Given the description of an element on the screen output the (x, y) to click on. 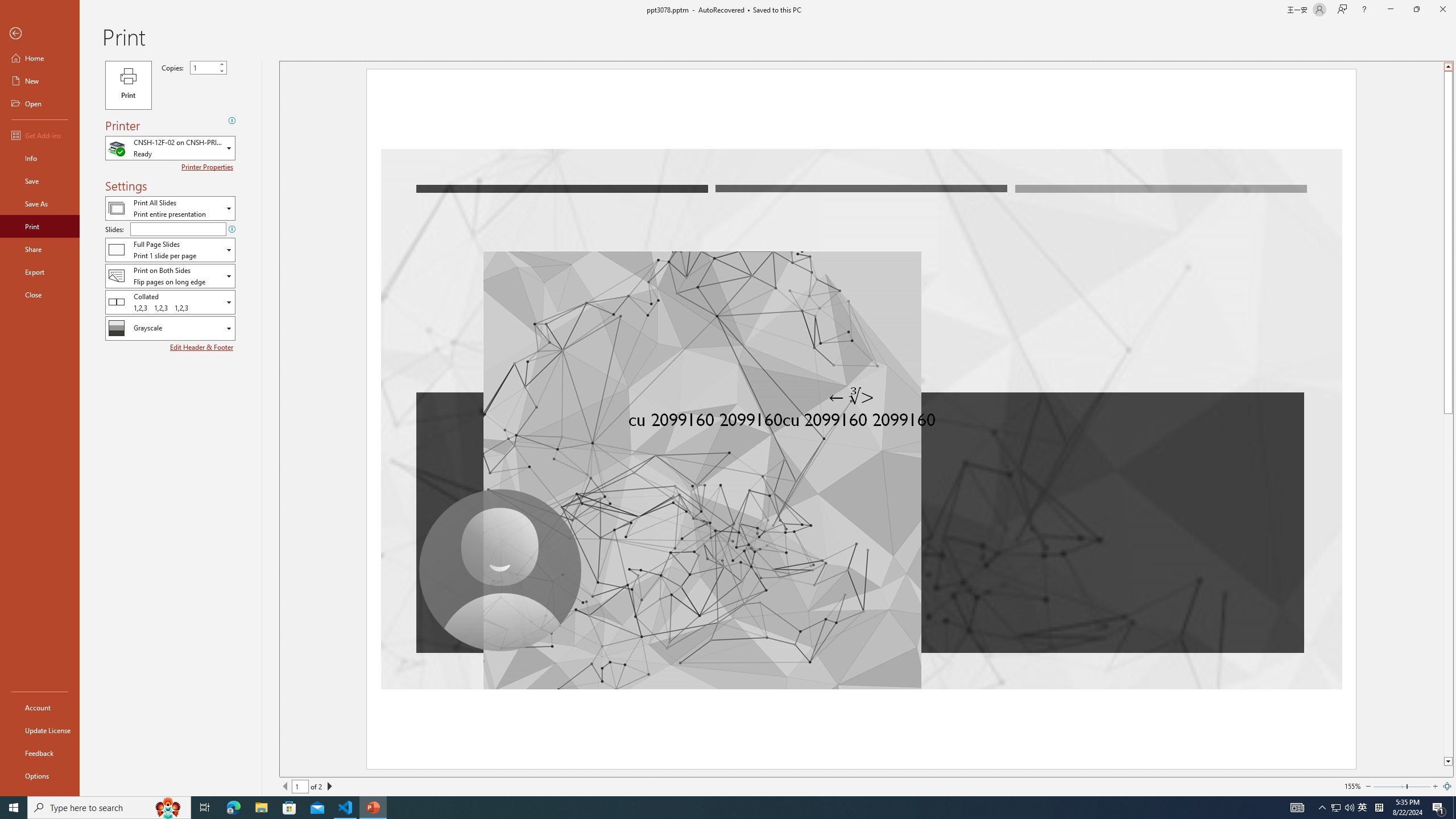
Slides (178, 228)
Color/Grayscale (169, 328)
Info (40, 157)
More (220, 64)
